Given the description of an element on the screen output the (x, y) to click on. 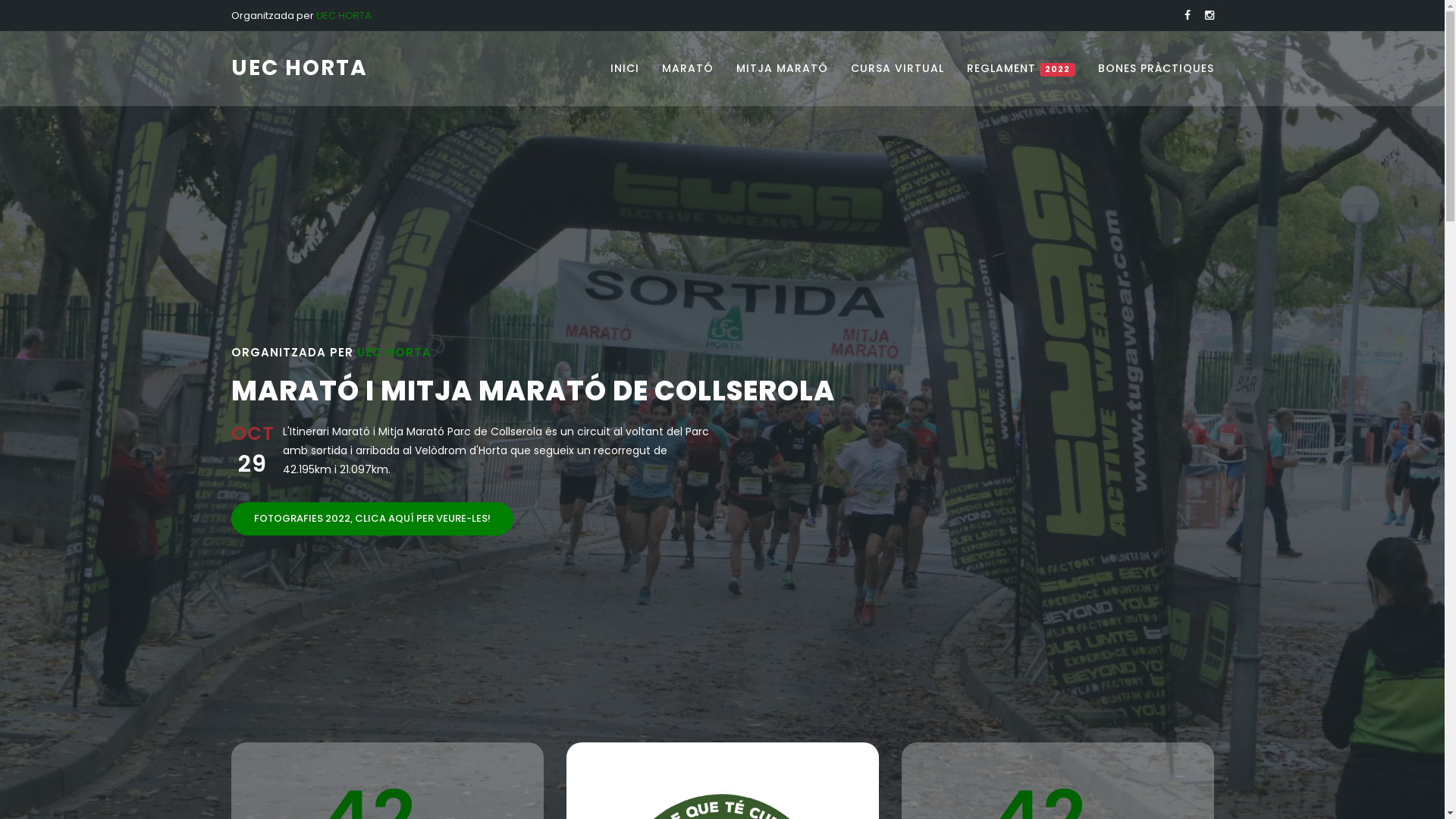
UEC HORTA Element type: text (298, 68)
REGLAMENT 2022 Element type: text (1020, 68)
INICI Element type: text (624, 68)
CURSA VIRTUAL Element type: text (897, 68)
UEC HORTA Element type: text (393, 352)
UEC HORTA Element type: text (342, 15)
